Given the description of an element on the screen output the (x, y) to click on. 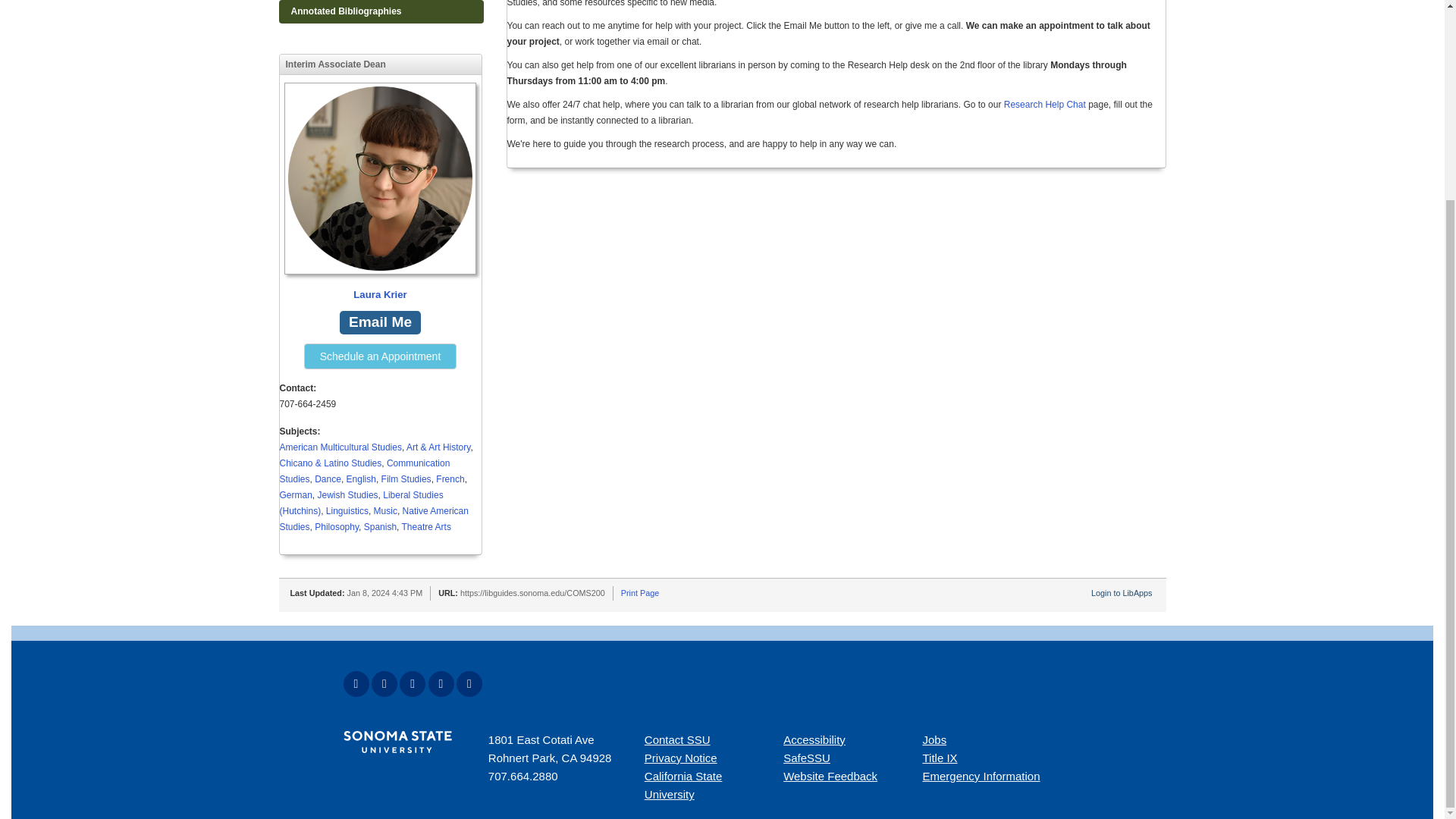
French (449, 479)
Linguistics (347, 511)
Philosophy (336, 526)
Research Help Chat (1045, 104)
American Multicultural Studies (340, 447)
Dance (327, 479)
Music (385, 511)
Print Page (640, 592)
English (360, 479)
Spanish (380, 526)
